Given the description of an element on the screen output the (x, y) to click on. 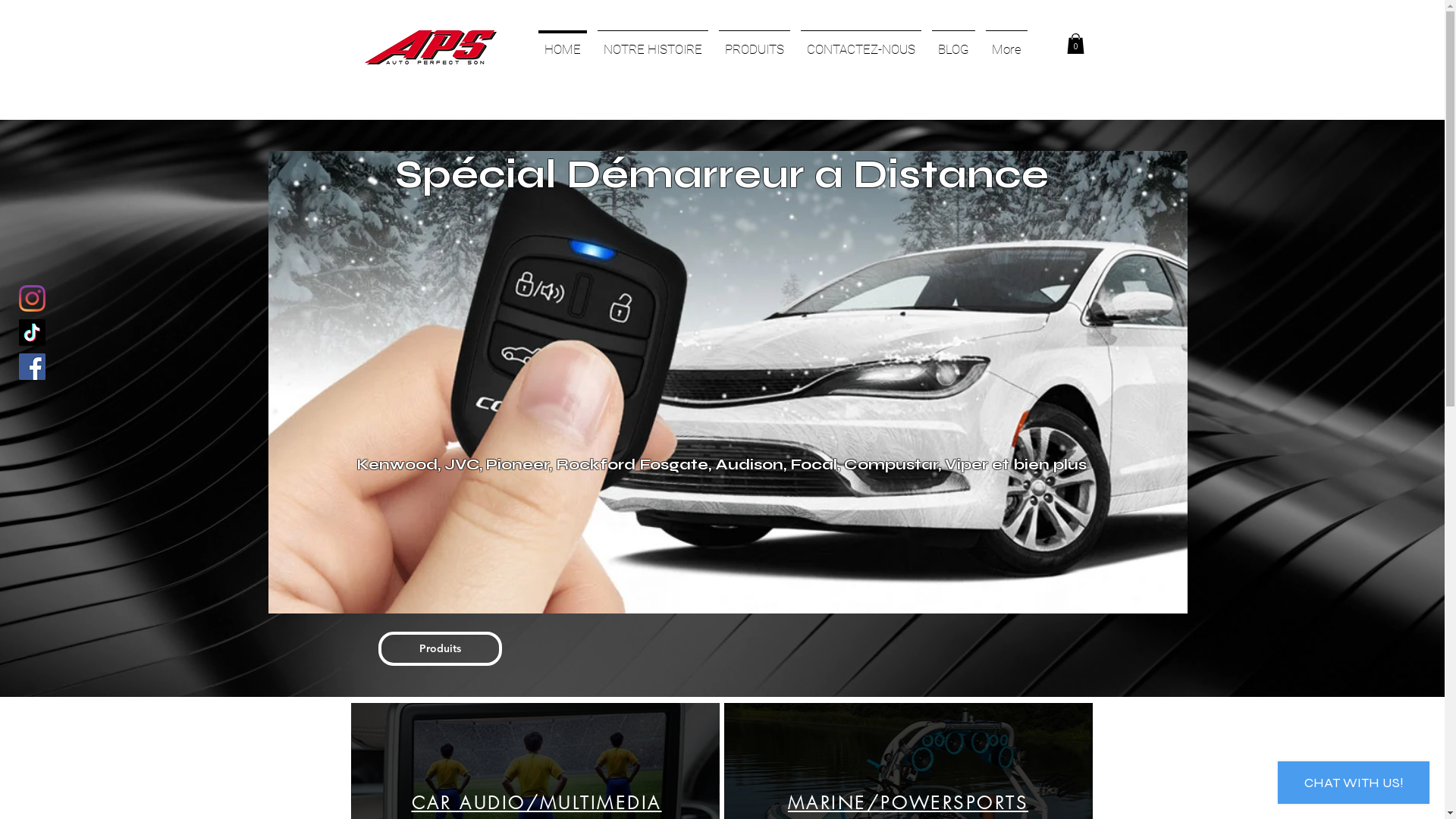
Produits Element type: text (439, 648)
PRODUITS Element type: text (753, 42)
HOME Element type: text (561, 42)
BLOG Element type: text (953, 42)
CAR AUDIO/MULTIMEDIA Element type: text (536, 802)
NOTRE HISTOIRE Element type: text (651, 42)
0 Element type: text (1074, 43)
big-DS4SUbg.jpg Element type: hover (727, 381)
CONTACTEZ-NOUS Element type: text (859, 42)
MARINE/POWERSPORTS Element type: text (907, 802)
